Given the description of an element on the screen output the (x, y) to click on. 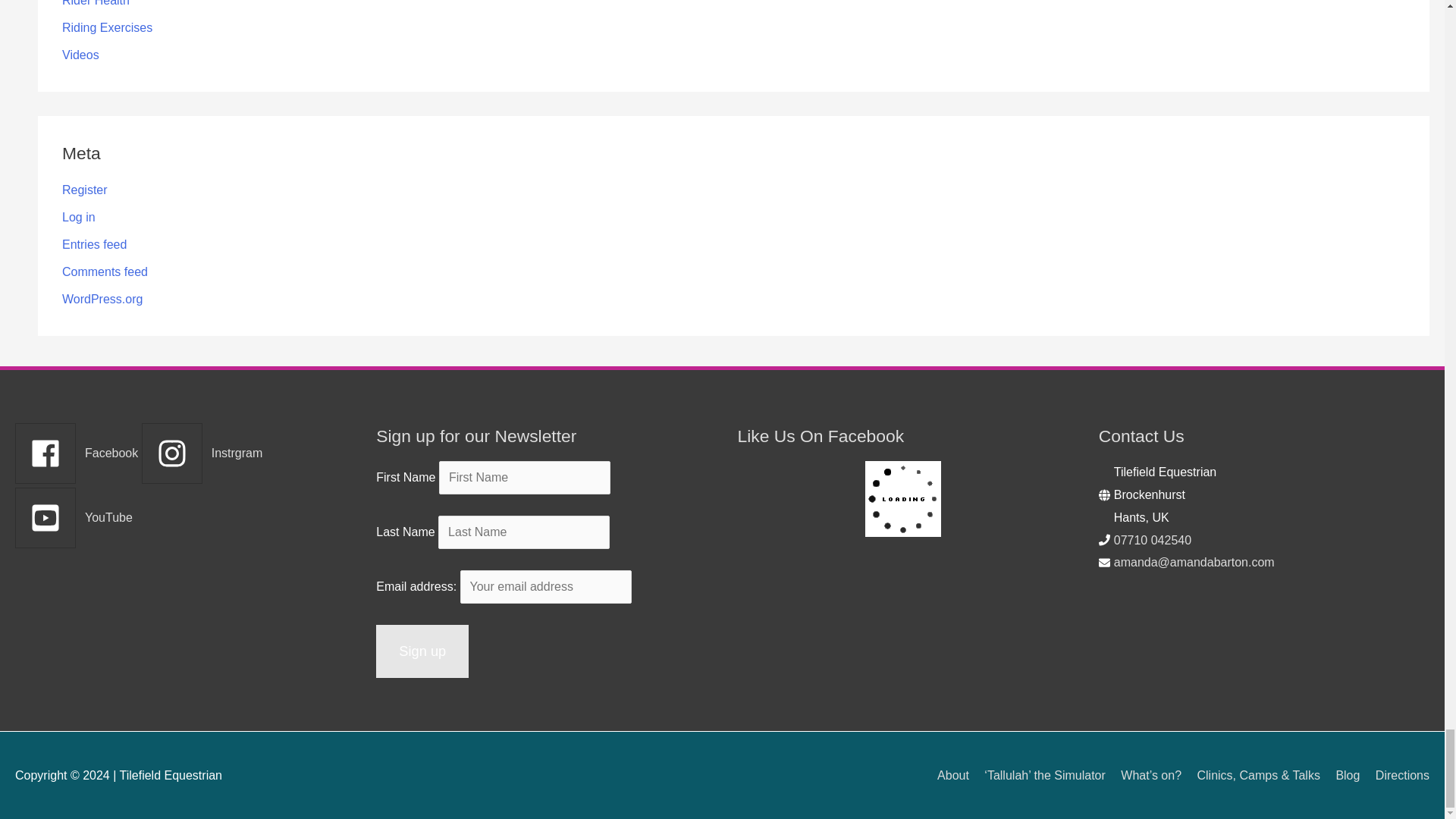
Sign up (421, 651)
